Given the description of an element on the screen output the (x, y) to click on. 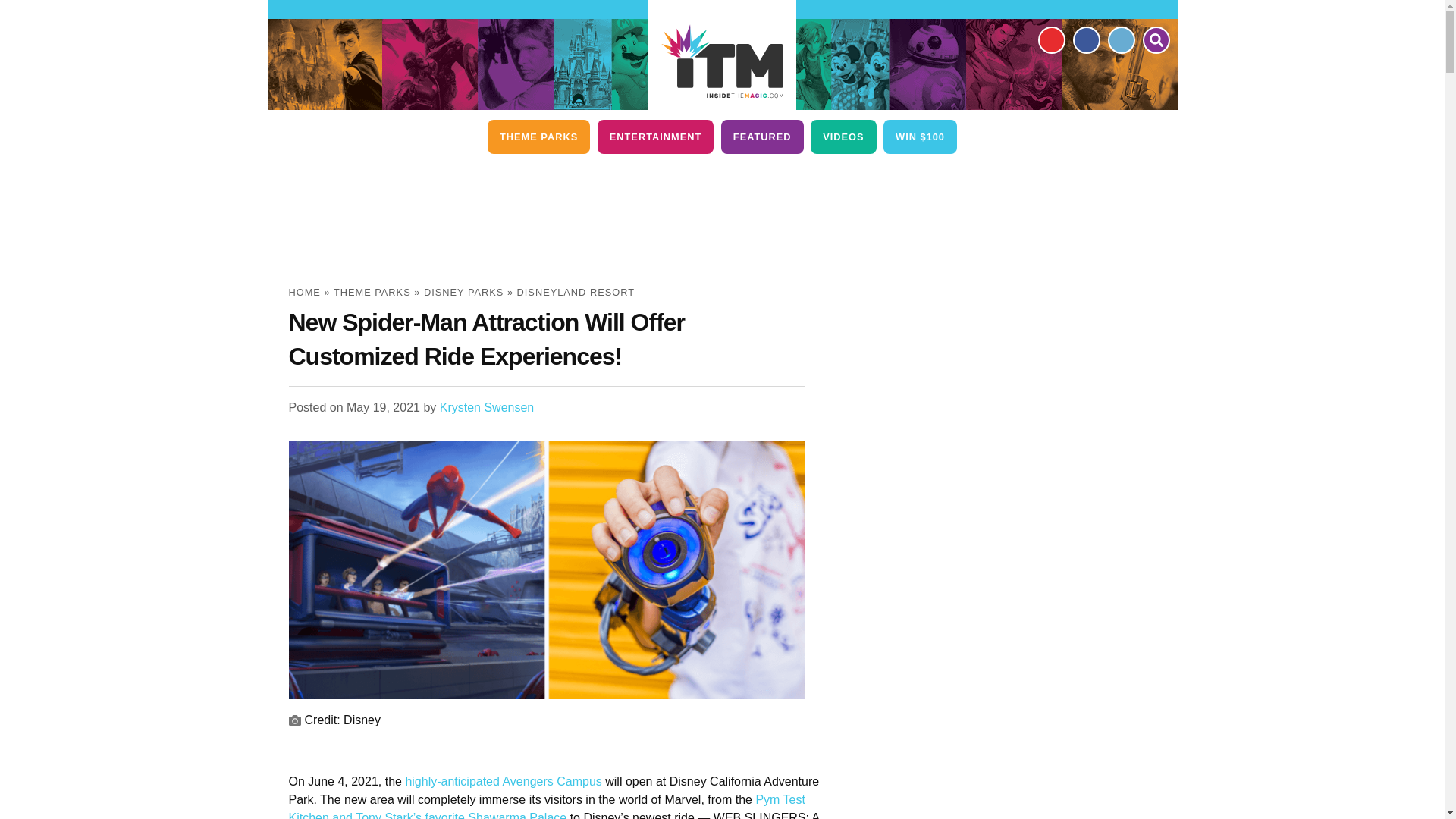
THEME PARKS (538, 136)
Facebook (1085, 40)
Search (1155, 40)
YouTube (1050, 40)
Twitter (1120, 40)
FEATURED (761, 136)
ENTERTAINMENT (655, 136)
